Given the description of an element on the screen output the (x, y) to click on. 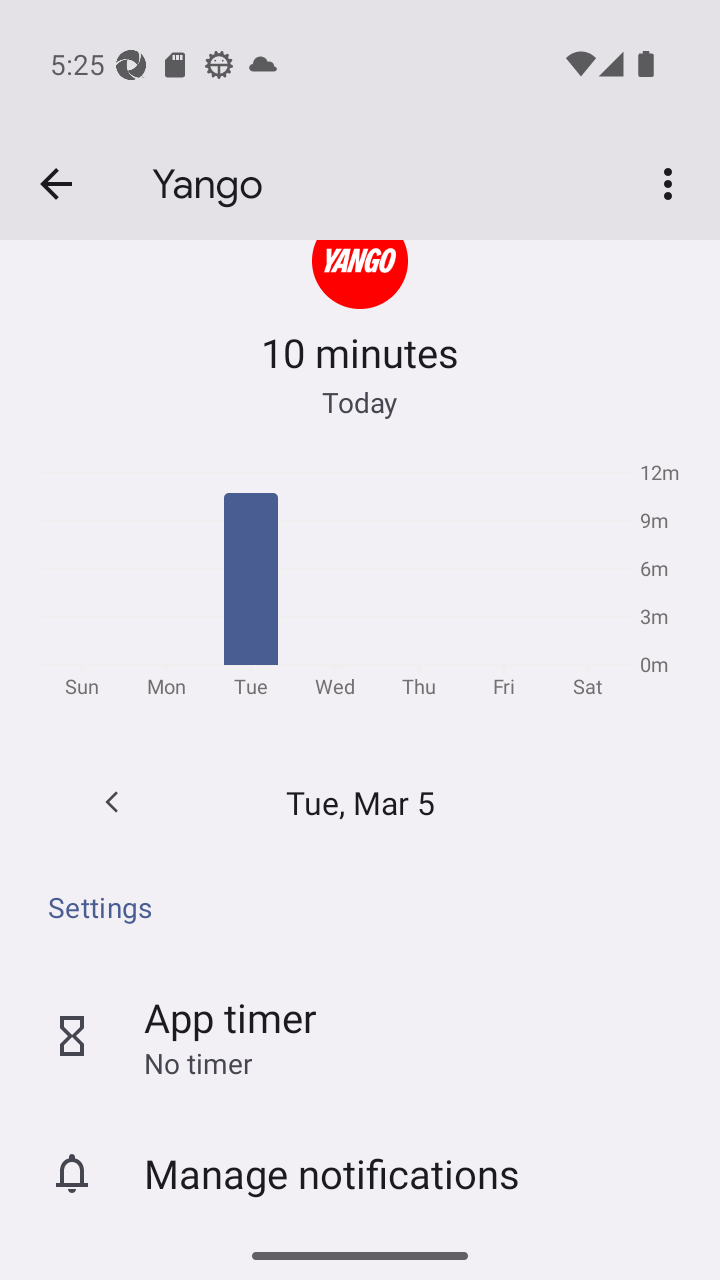
Navigate up (56, 184)
More options (672, 183)
Go to the previous day (111, 801)
App timer No timer (360, 1035)
Manage notifications (360, 1172)
